Given the description of an element on the screen output the (x, y) to click on. 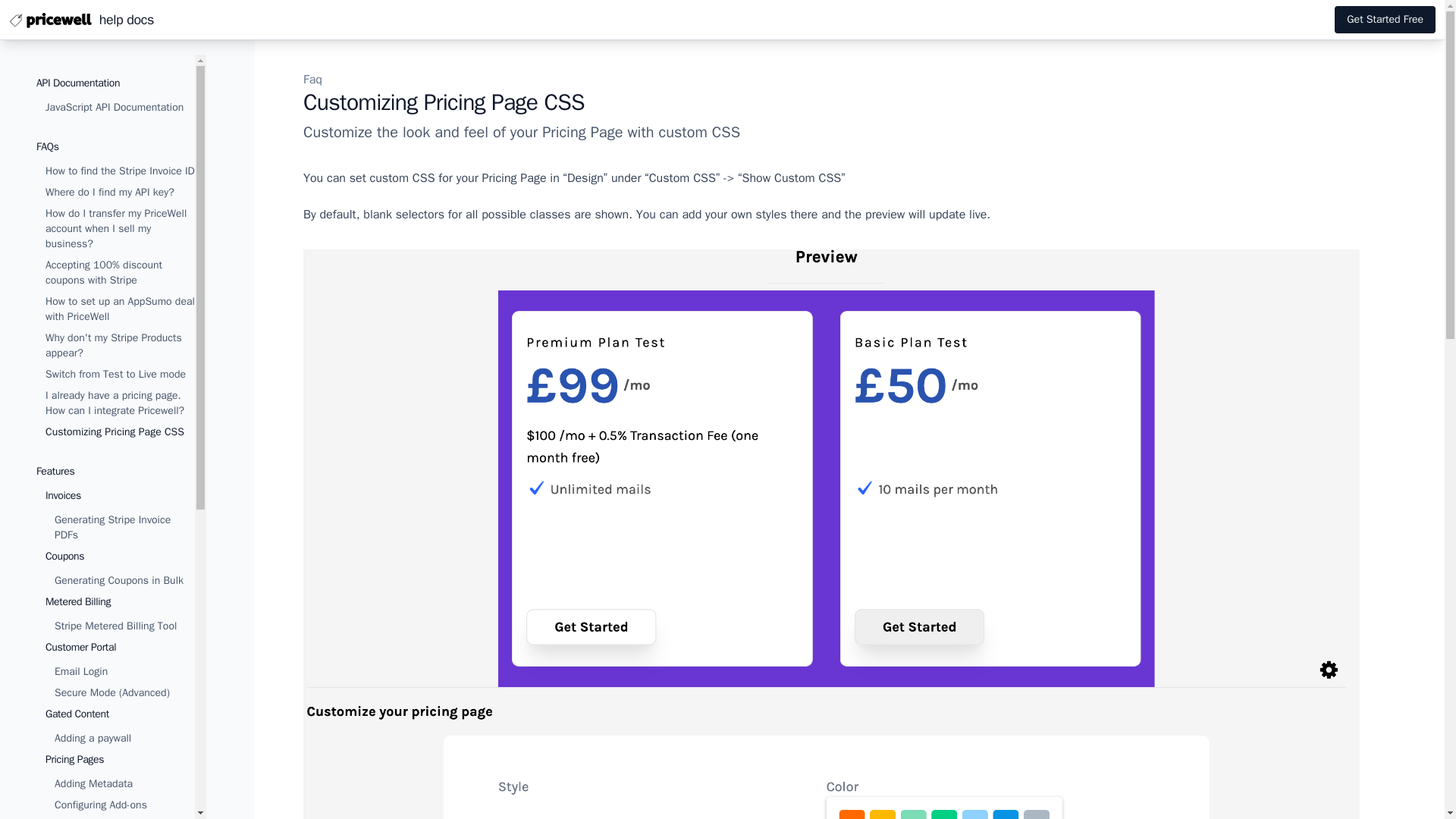
API Documentation (77, 82)
How to find the Stripe Invoice ID (120, 170)
Generating Stripe Invoice PDFs (112, 527)
Customer Portal (120, 670)
Stripe Metered Billing Tool (115, 625)
How to set up an AppSumo deal with PriceWell (120, 309)
Switch from Test to Live mode (115, 373)
Customer Portal (80, 646)
Generating Coupons in Bulk (125, 580)
Generating Stripe Invoice PDFs (125, 527)
Coupons (120, 568)
Coupons (64, 555)
Switch from Test to Live mode (120, 374)
